Given the description of an element on the screen output the (x, y) to click on. 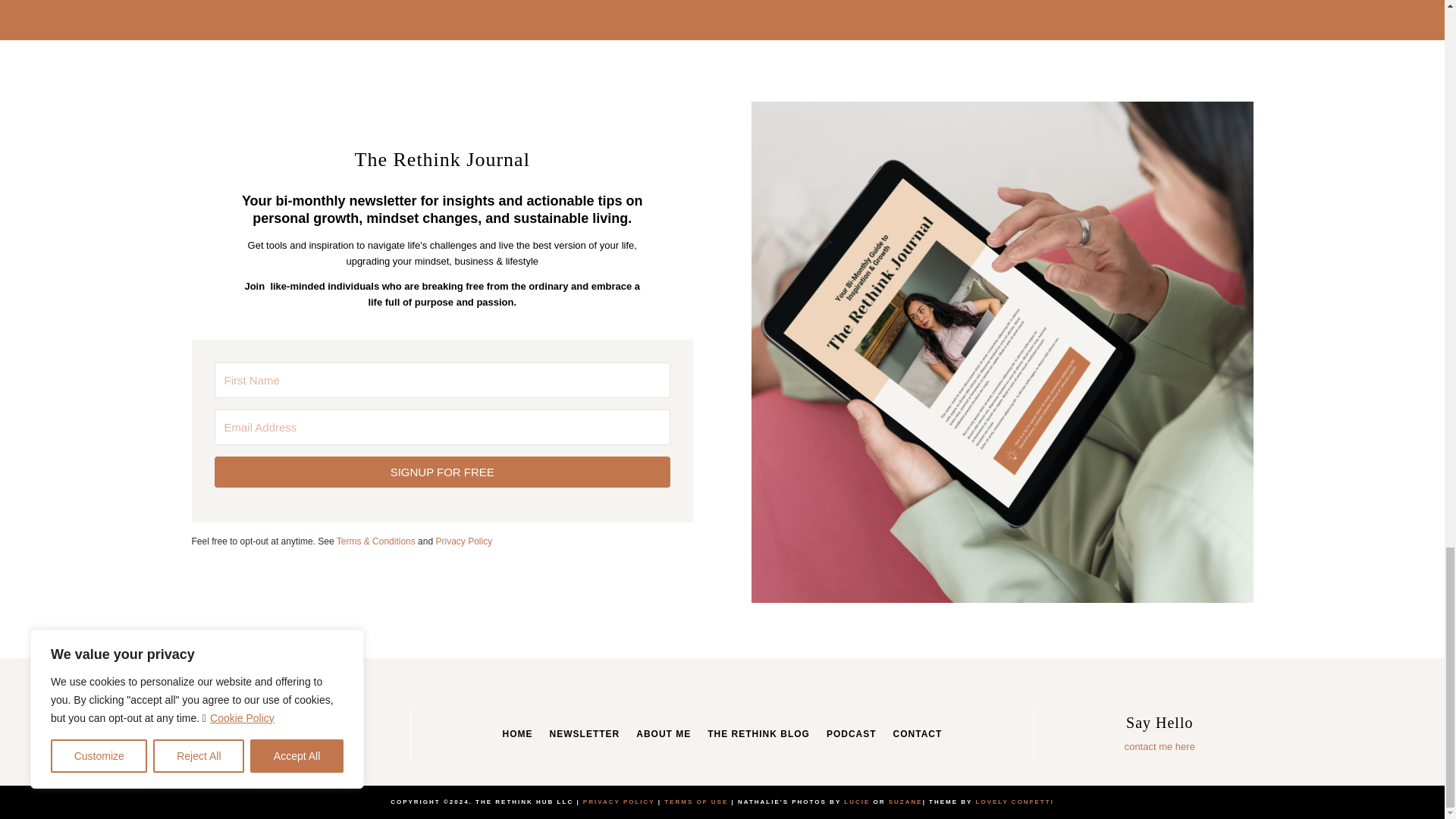
Follow on LinkedIn (271, 743)
Follow on Instagram (243, 743)
Follow on TikTok (325, 743)
Follow on Youtube (298, 743)
